Given the description of an element on the screen output the (x, y) to click on. 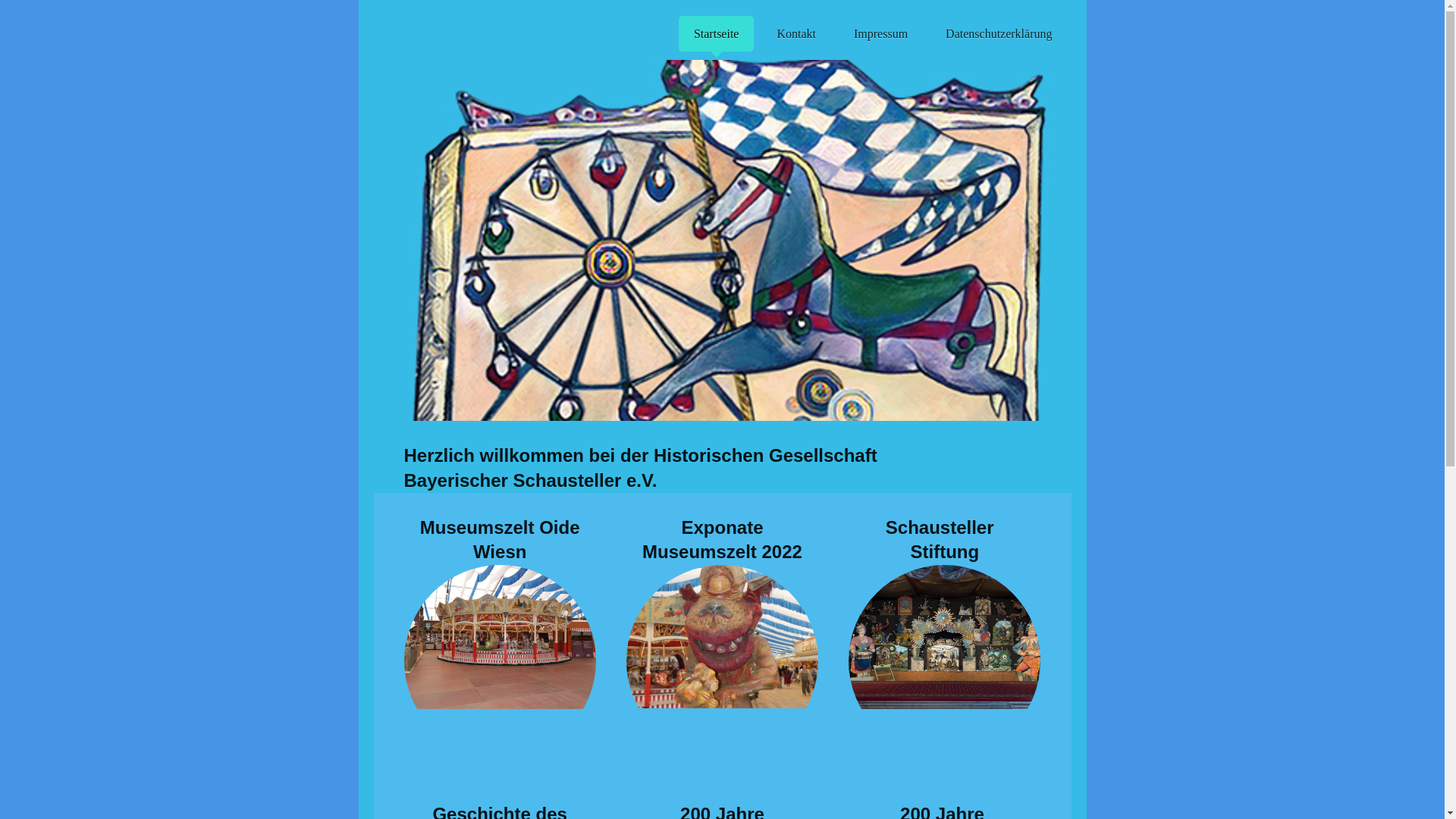
Impressum Element type: text (880, 33)
Startseite Element type: text (716, 33)
Kontakt Element type: text (796, 33)
